Given the description of an element on the screen output the (x, y) to click on. 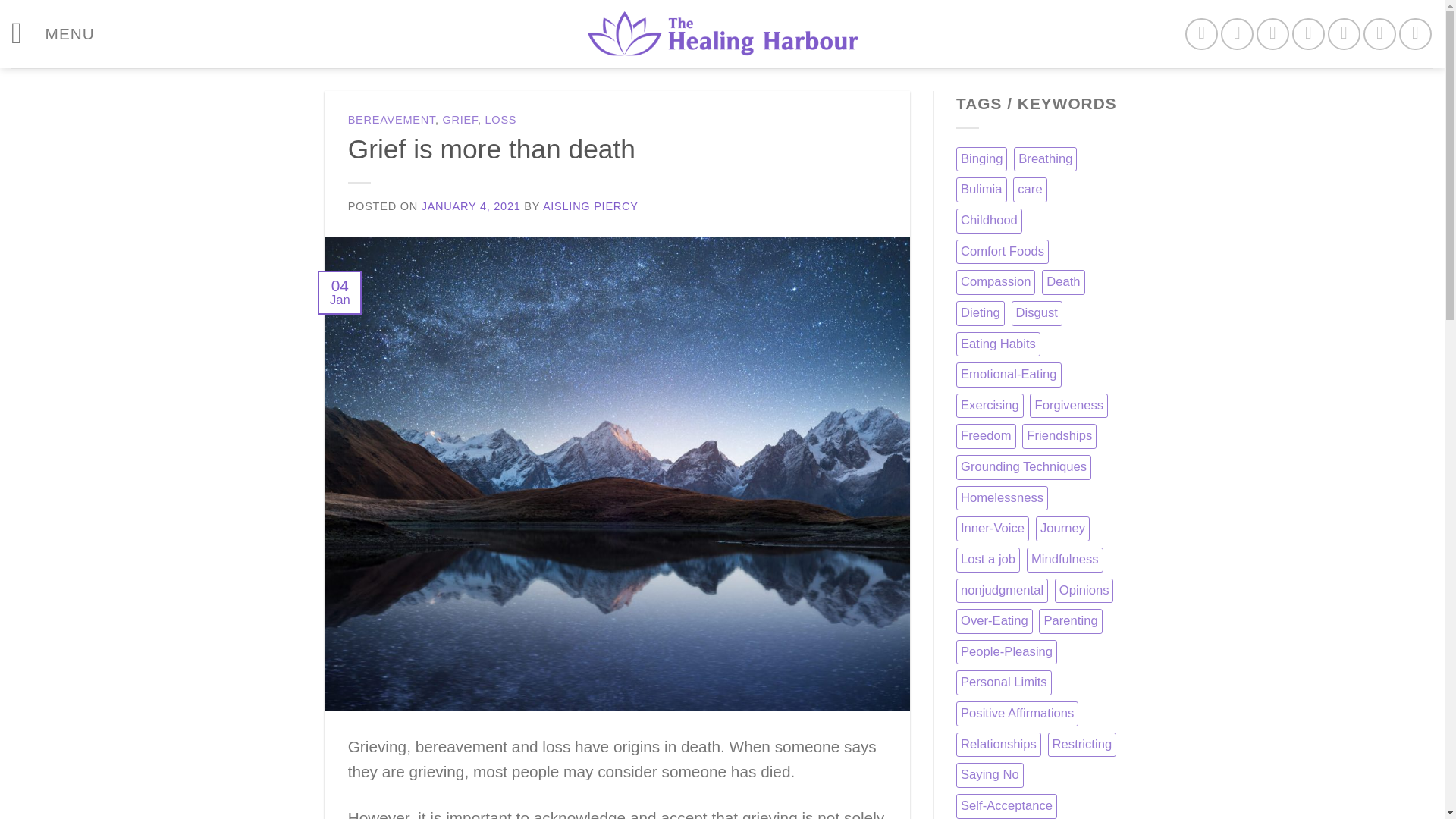
Follow on TikTok (1272, 34)
Freedom (986, 436)
Call us (1343, 34)
Send us an email (1308, 34)
Breathing (1045, 159)
Exercising (989, 405)
Binging (981, 159)
Comfort Foods (1002, 251)
Follow on Pinterest (1379, 34)
Friendships (1059, 436)
JANUARY 4, 2021 (471, 205)
Compassion (995, 282)
BEREAVEMENT (391, 119)
Dieting (980, 313)
Eating Habits (998, 344)
